Given the description of an element on the screen output the (x, y) to click on. 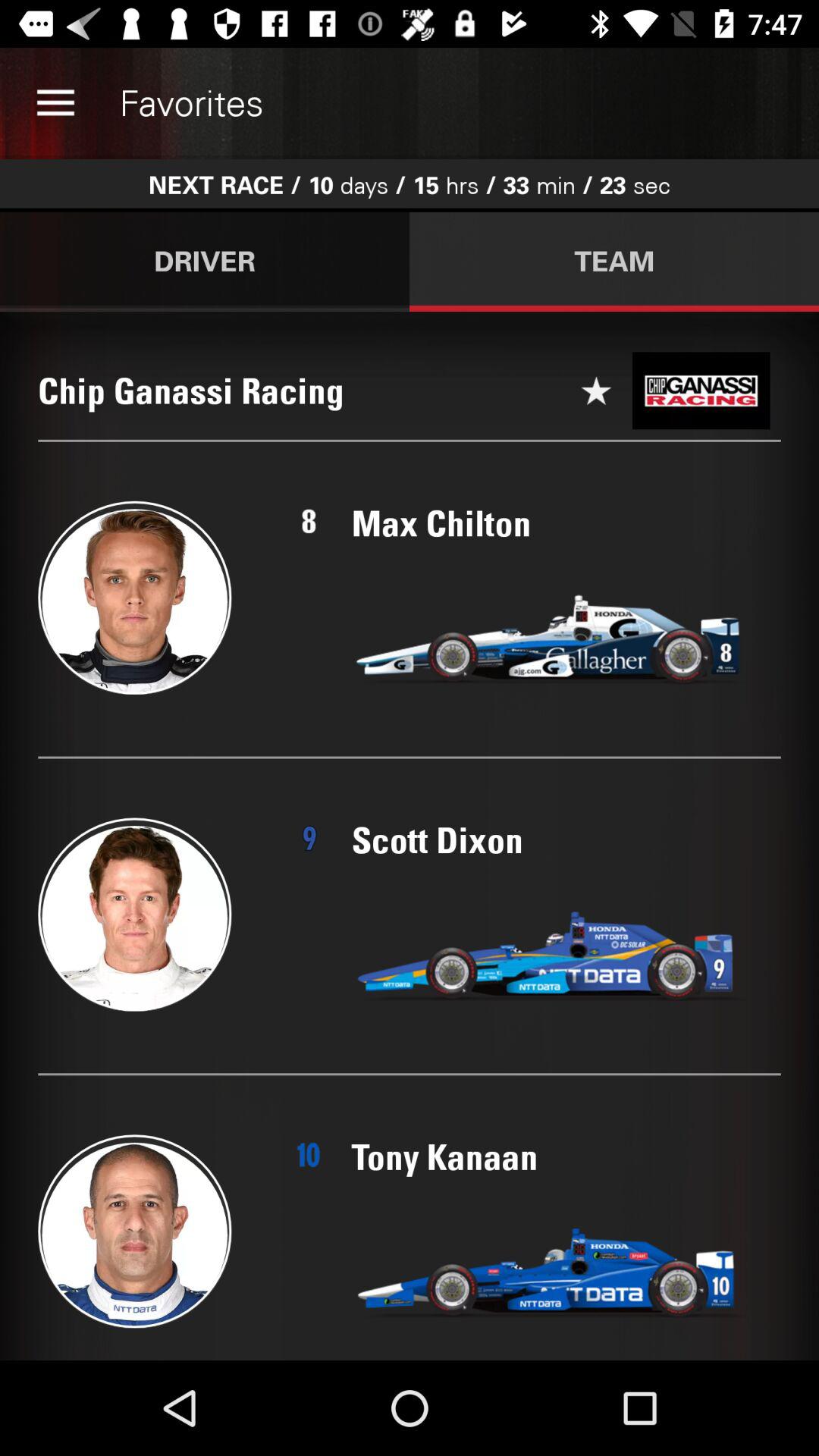
tap the item next to favorites item (55, 103)
